Given the description of an element on the screen output the (x, y) to click on. 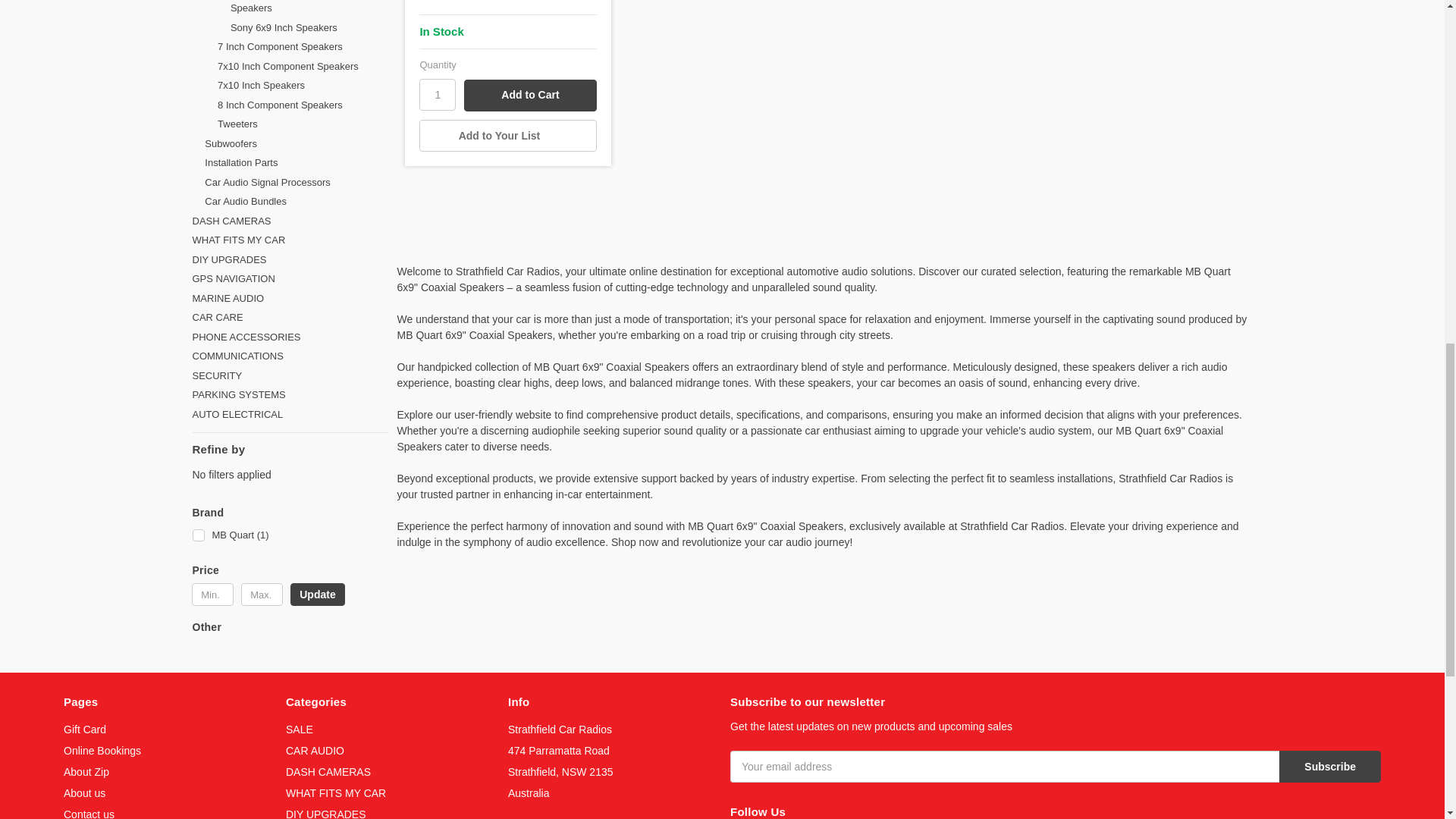
Subscribe (1329, 766)
Add to Cart (529, 95)
1 (437, 94)
